Given the description of an element on the screen output the (x, y) to click on. 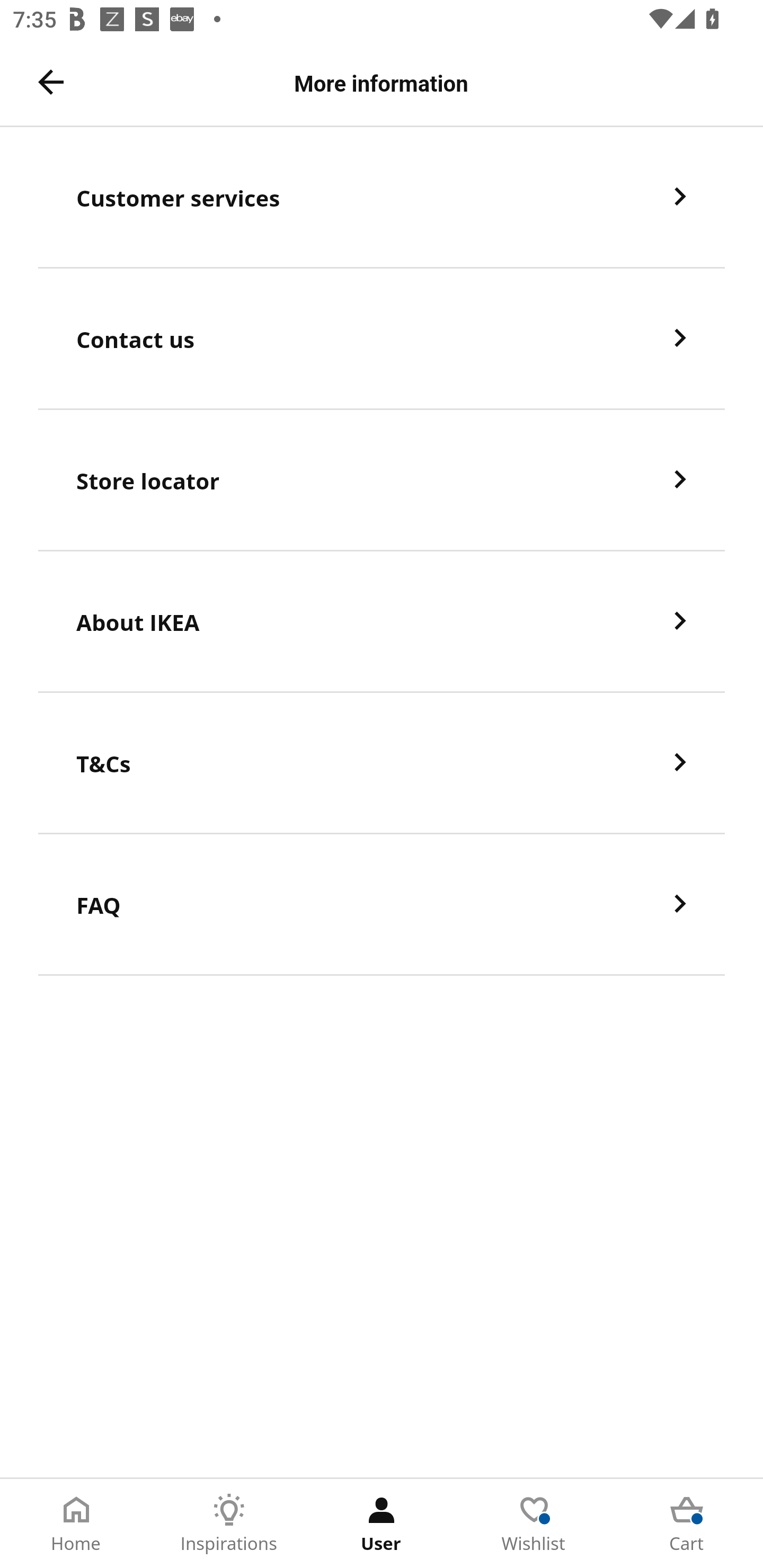
Customer services (381, 197)
Contact us (381, 338)
Store locator (381, 480)
About IKEA (381, 622)
T&Cs (381, 763)
FAQ (381, 904)
Home
Tab 1 of 5 (76, 1522)
Inspirations
Tab 2 of 5 (228, 1522)
User
Tab 3 of 5 (381, 1522)
Wishlist
Tab 4 of 5 (533, 1522)
Cart
Tab 5 of 5 (686, 1522)
